Given the description of an element on the screen output the (x, y) to click on. 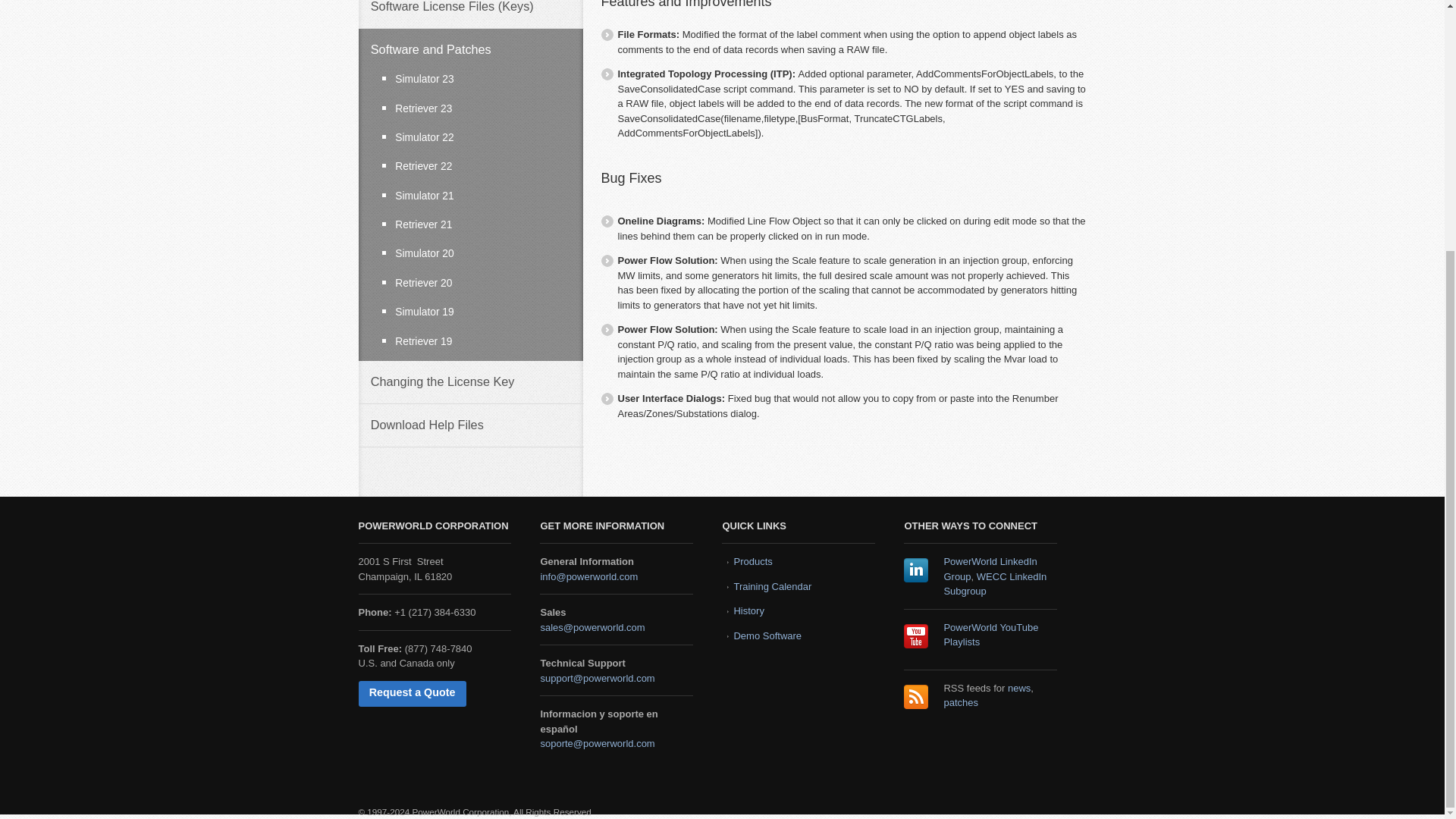
rss-large (916, 696)
linked-in (916, 569)
youtube (916, 636)
Request a Quote (411, 693)
